Given the description of an element on the screen output the (x, y) to click on. 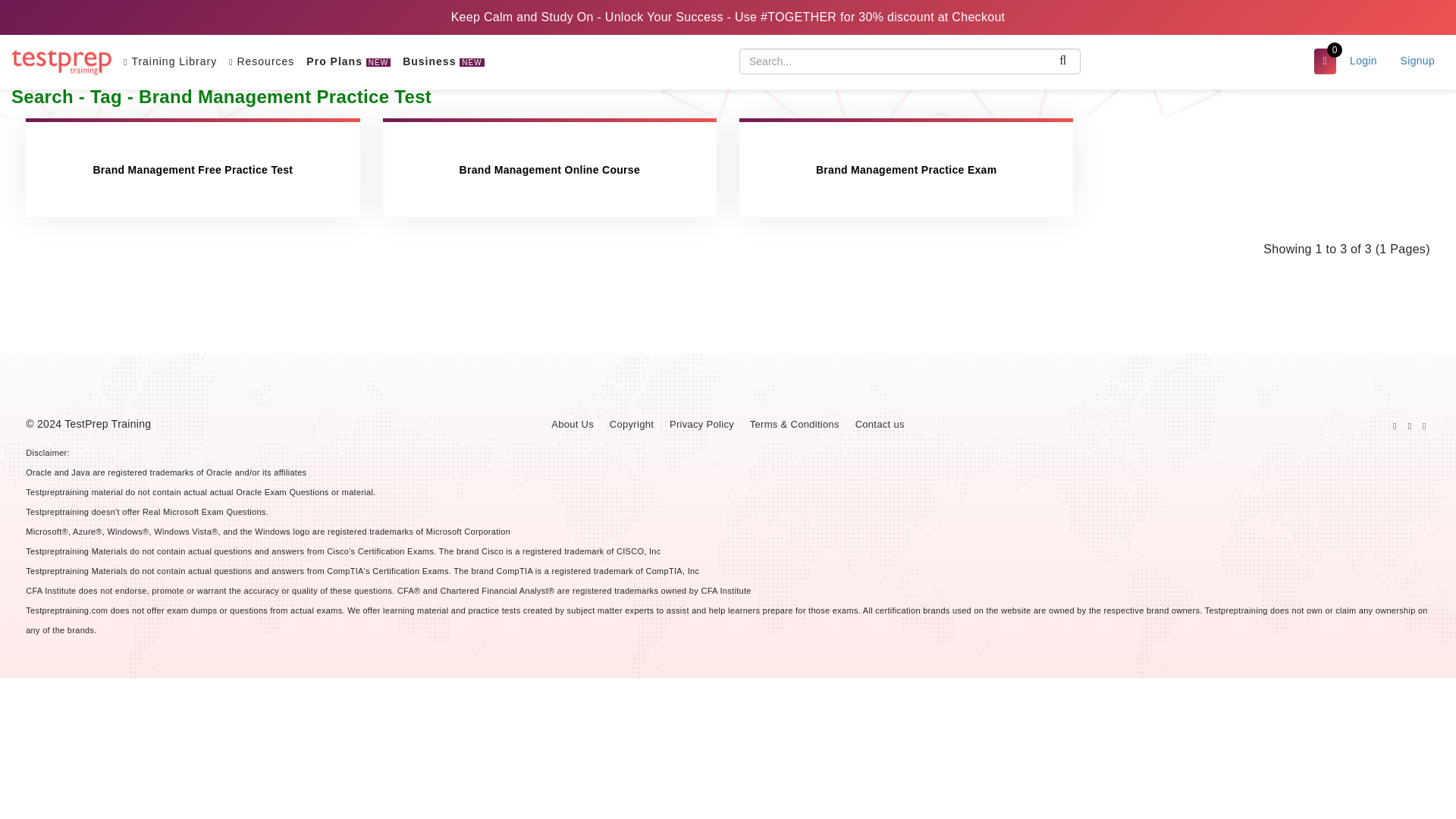
Testprep Training (61, 62)
checkout (1325, 61)
